Given the description of an element on the screen output the (x, y) to click on. 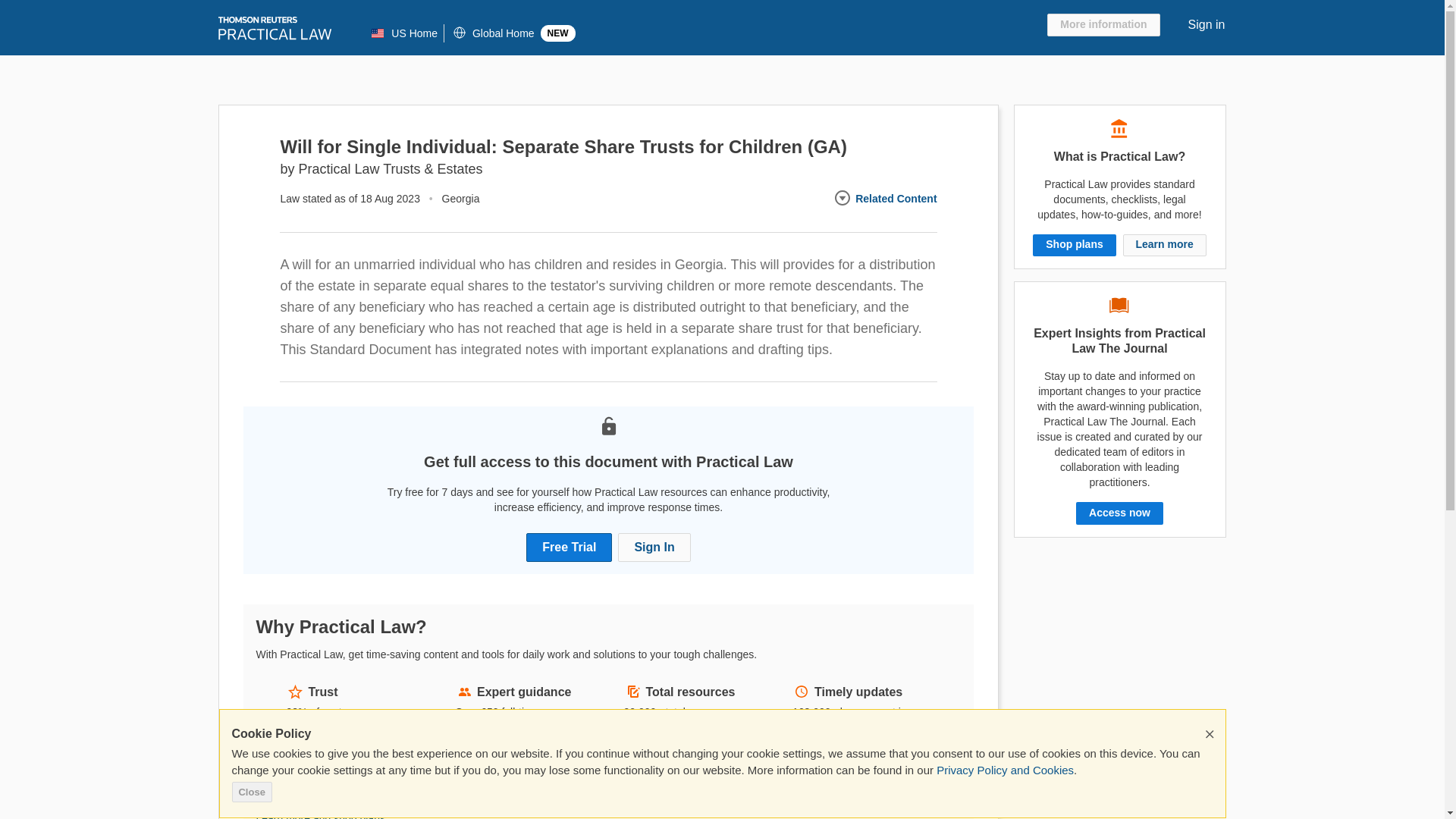
Close message to acknowledge cookie policy (1209, 733)
Sign In (653, 547)
Global Home (492, 33)
Related Content (884, 199)
More information (1102, 24)
Learn more and shop plans (320, 815)
US Home (407, 33)
Sign in (1205, 25)
Free Trial (568, 547)
